Given the description of an element on the screen output the (x, y) to click on. 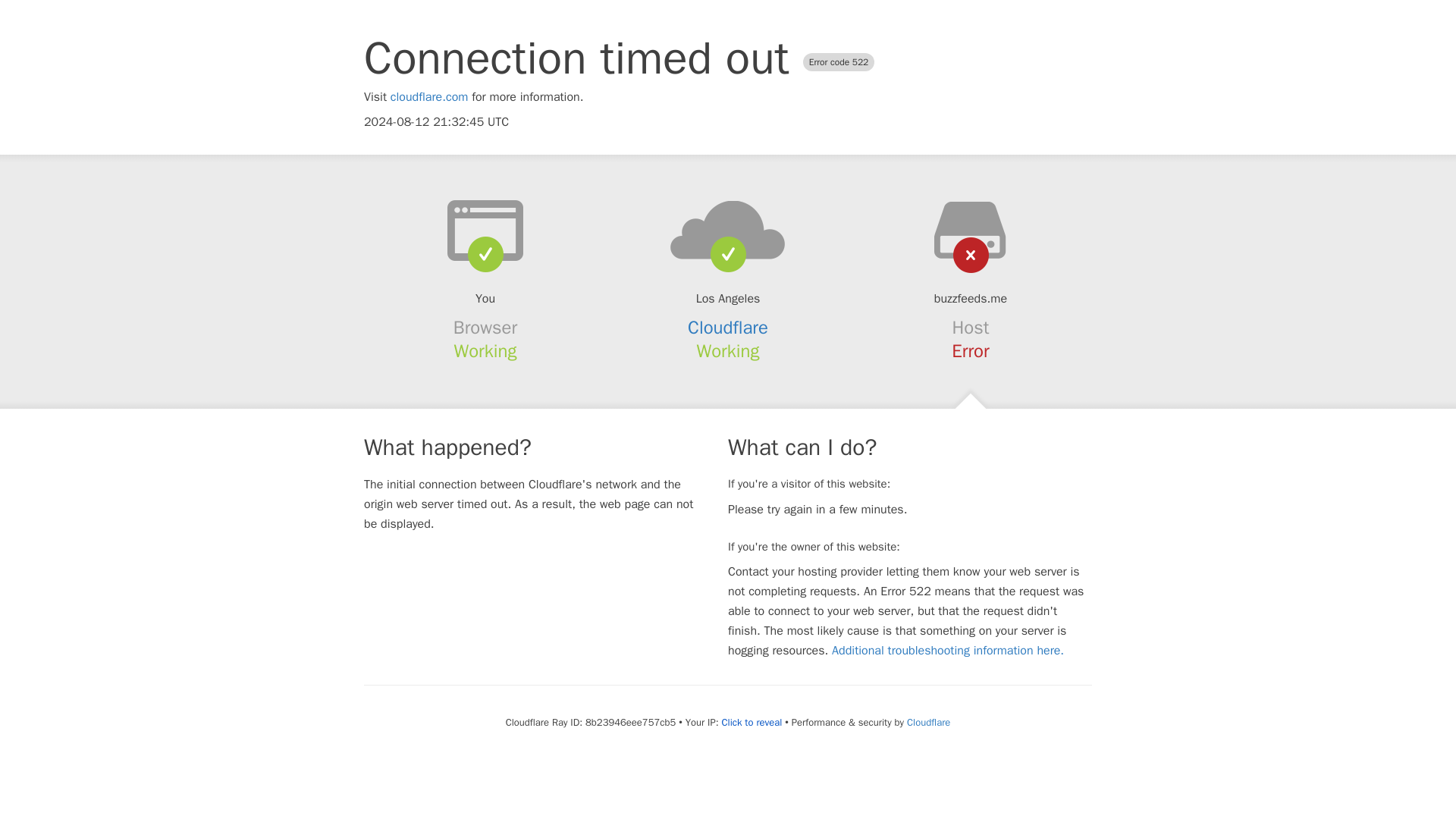
Cloudflare (727, 327)
Additional troubleshooting information here. (947, 650)
Cloudflare (928, 721)
Click to reveal (750, 722)
cloudflare.com (429, 96)
